Given the description of an element on the screen output the (x, y) to click on. 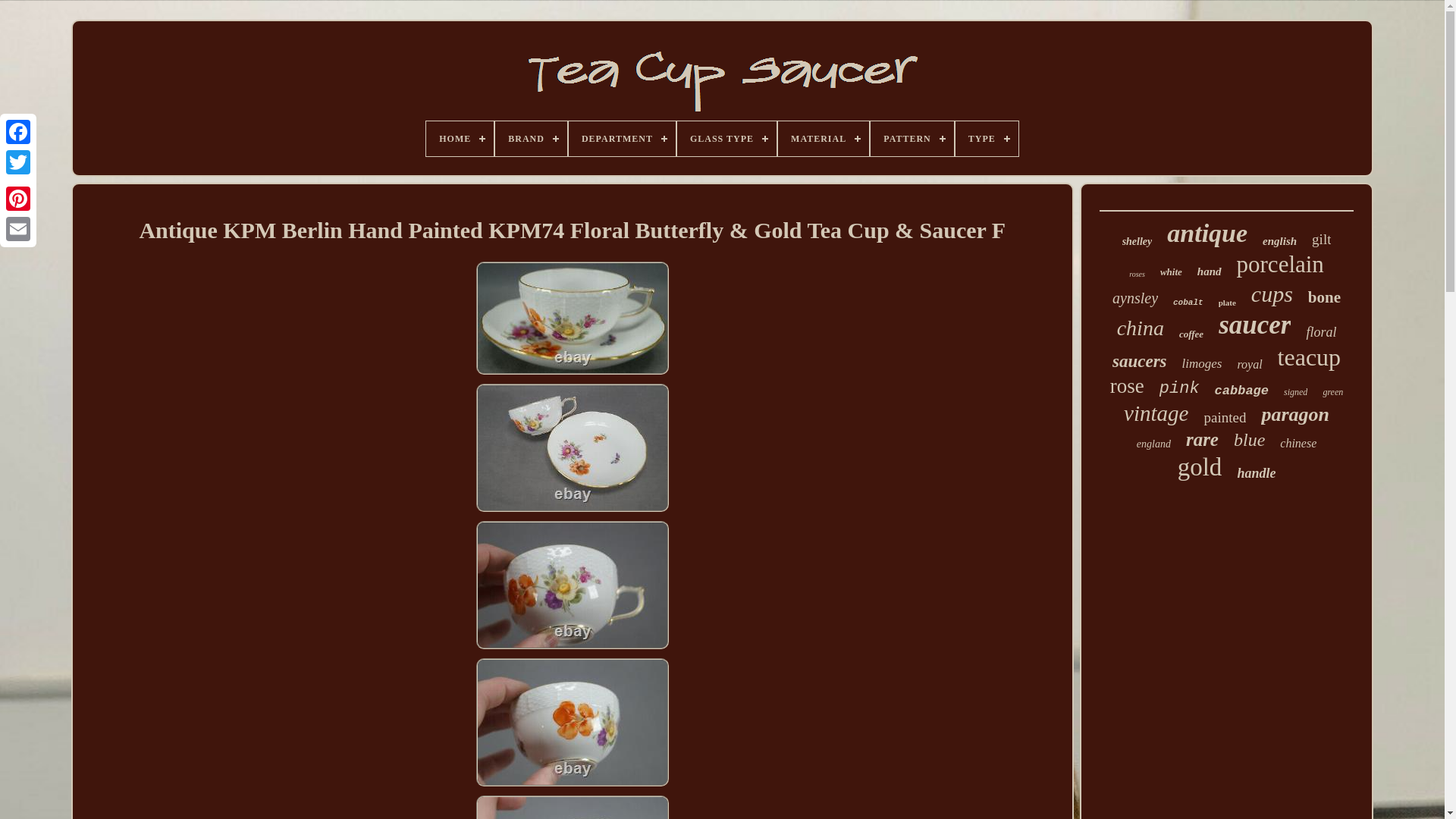
DEPARTMENT (622, 138)
BRAND (531, 138)
HOME (459, 138)
